Given the description of an element on the screen output the (x, y) to click on. 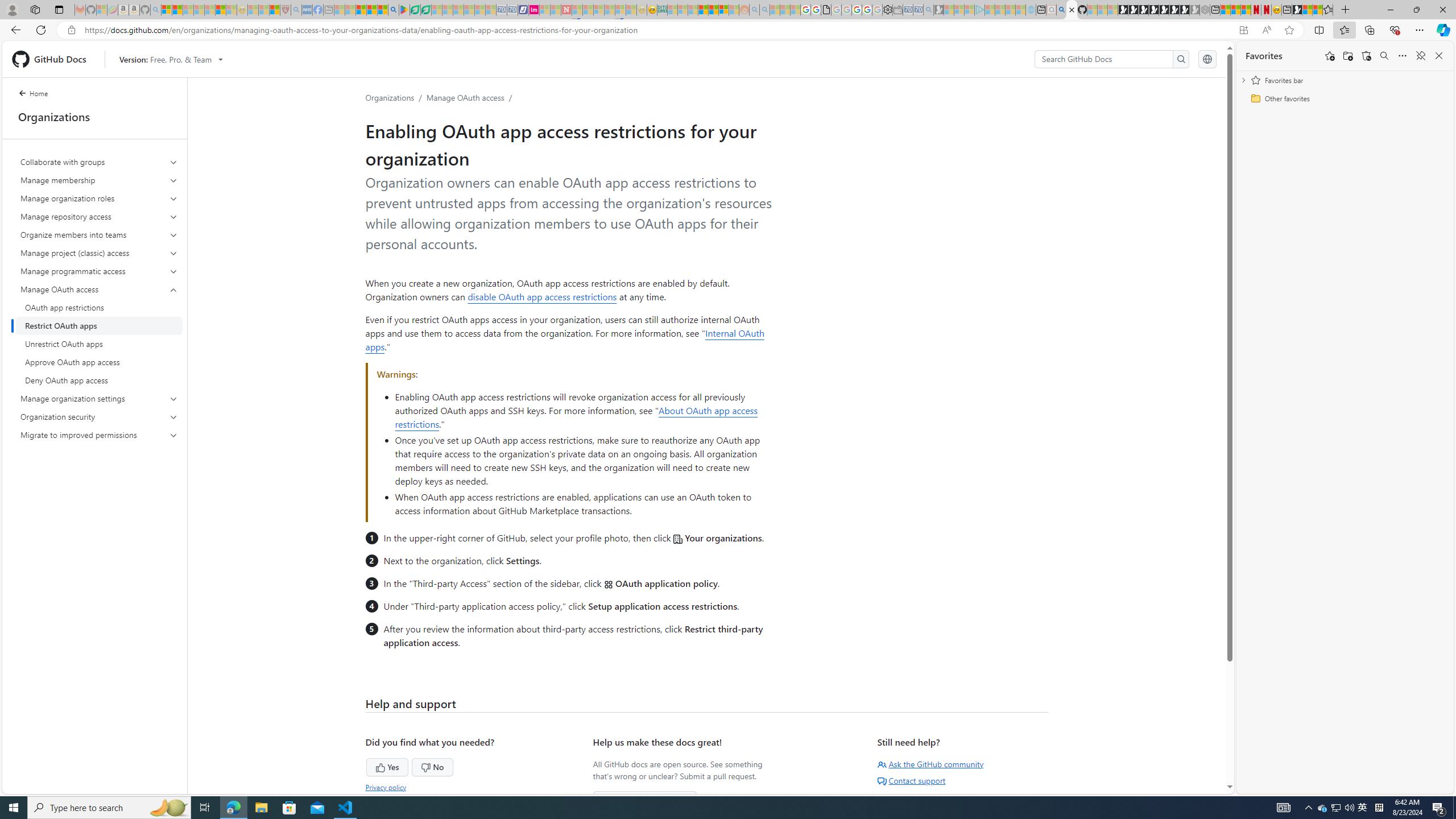
App available. Install GitHub Docs (1243, 29)
Play Cave FRVR in your browser | Games from Microsoft Start (1143, 9)
Manage repository access (99, 216)
Search GitHub Docs (1104, 58)
MSN (1297, 9)
2Next to the organization, click Settings. (578, 560)
Yes (365, 765)
About OAuth app access restrictions (576, 416)
Wallet - Sleeping (897, 9)
